Given the description of an element on the screen output the (x, y) to click on. 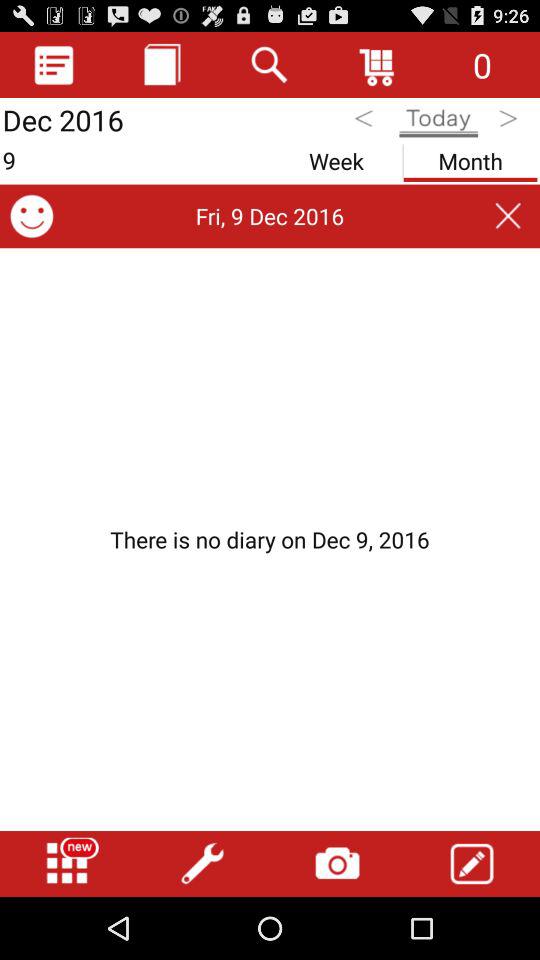
write option (472, 863)
